Given the description of an element on the screen output the (x, y) to click on. 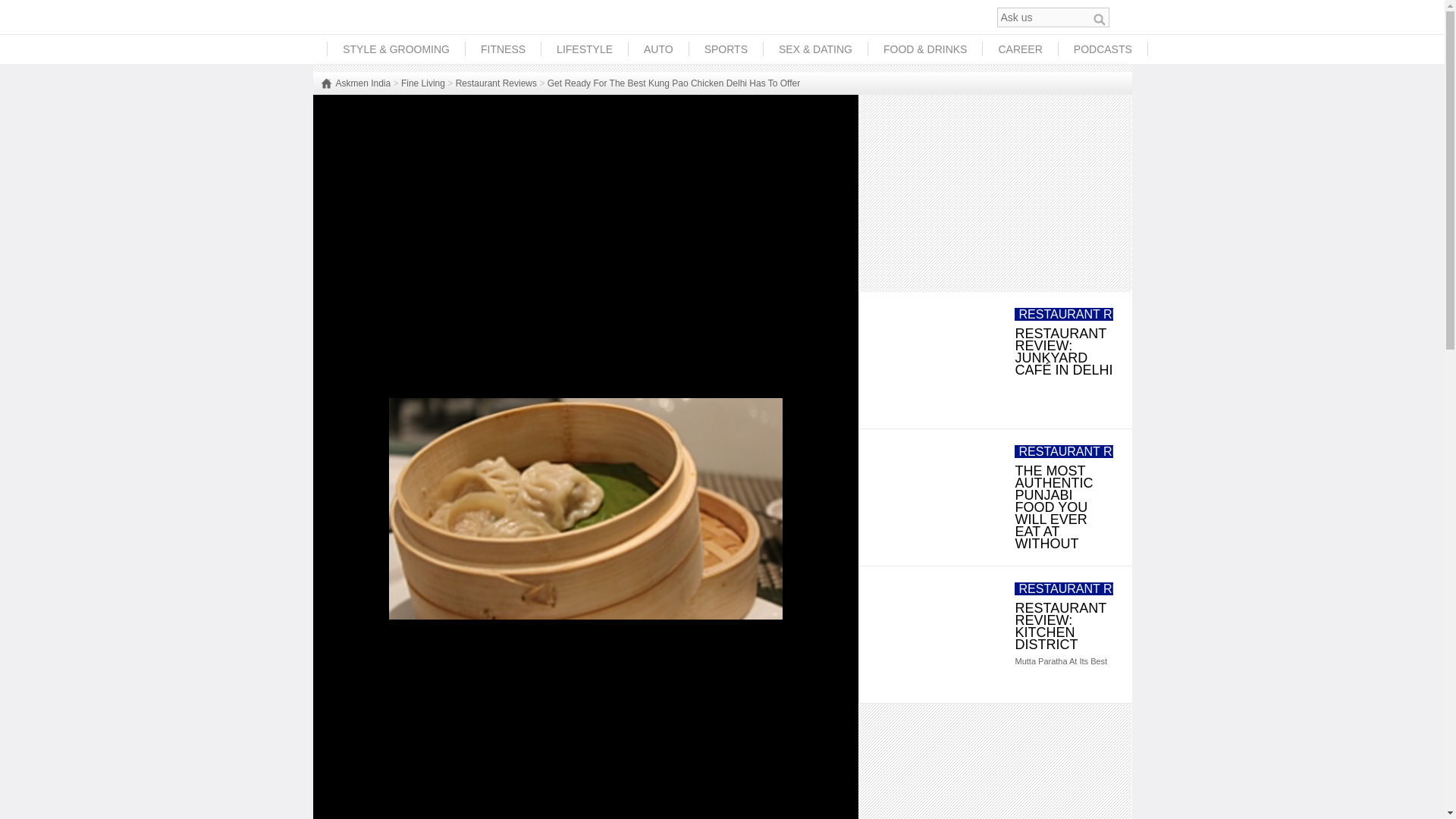
PODCASTS (1103, 49)
SPORTS (726, 49)
RESTAURANT REVIEWS (1087, 314)
Fine Living (423, 83)
CAREER (1019, 49)
AUTO (657, 49)
Askmen India (355, 83)
Restaurant Reviews (496, 83)
Askmen India (355, 83)
FITNESS (502, 49)
LIFESTYLE (584, 49)
